Given the description of an element on the screen output the (x, y) to click on. 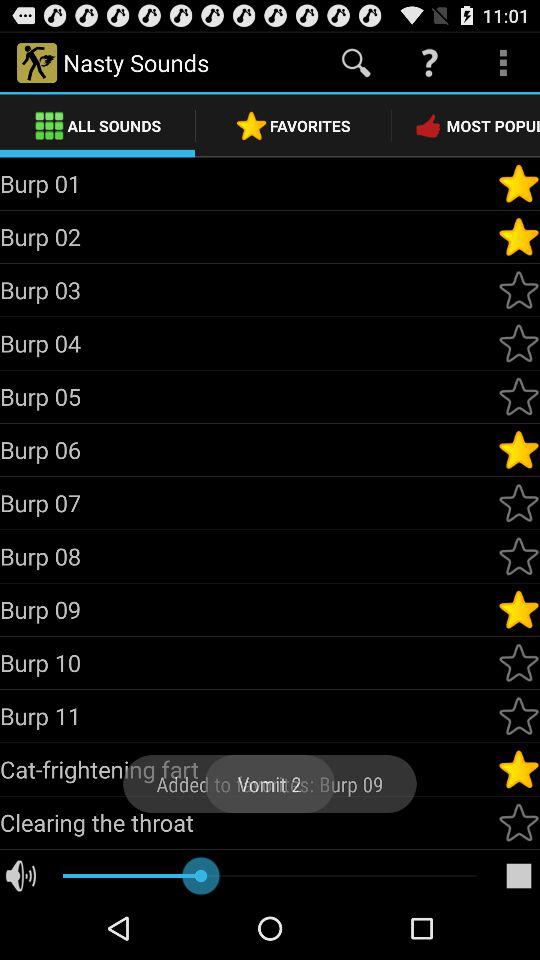
toggle favorite option (519, 822)
